Given the description of an element on the screen output the (x, y) to click on. 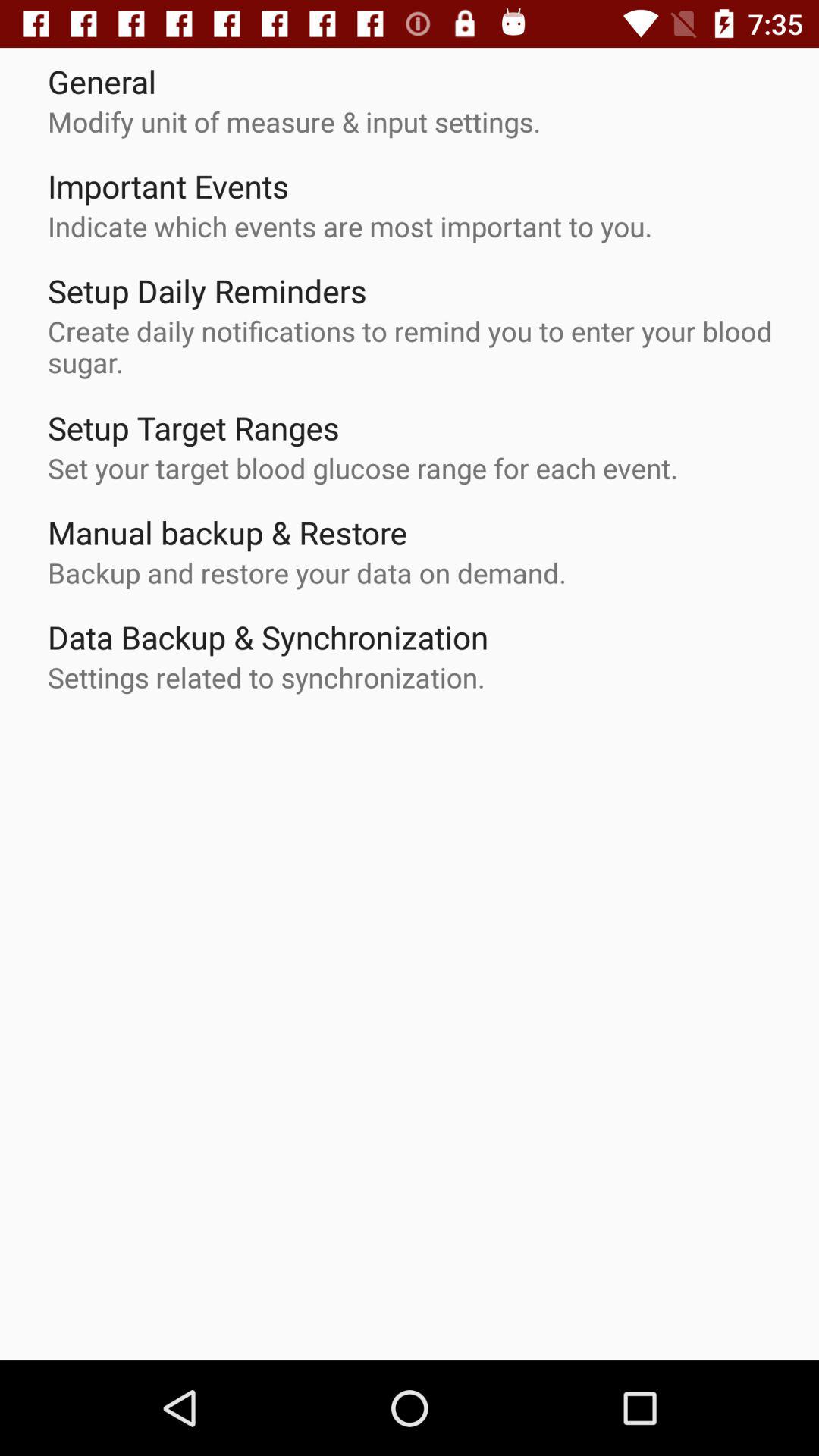
choose item below important events app (349, 226)
